Given the description of an element on the screen output the (x, y) to click on. 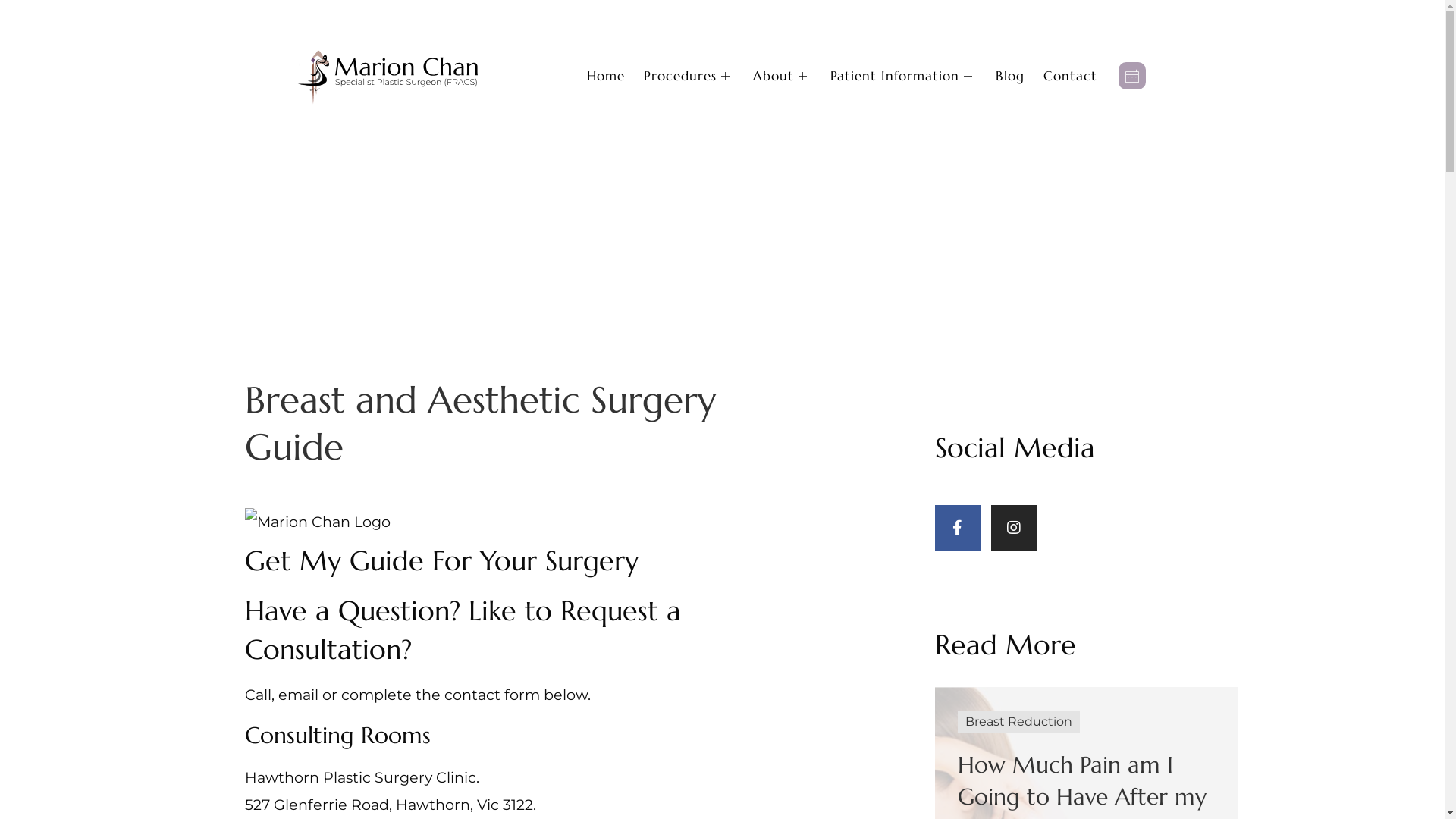
About Element type: text (791, 75)
Patient Information Element type: text (912, 75)
Contact Element type: text (1079, 75)
Blog Element type: text (1019, 75)
Home Element type: text (614, 75)
Procedures Element type: text (698, 75)
